Given the description of an element on the screen output the (x, y) to click on. 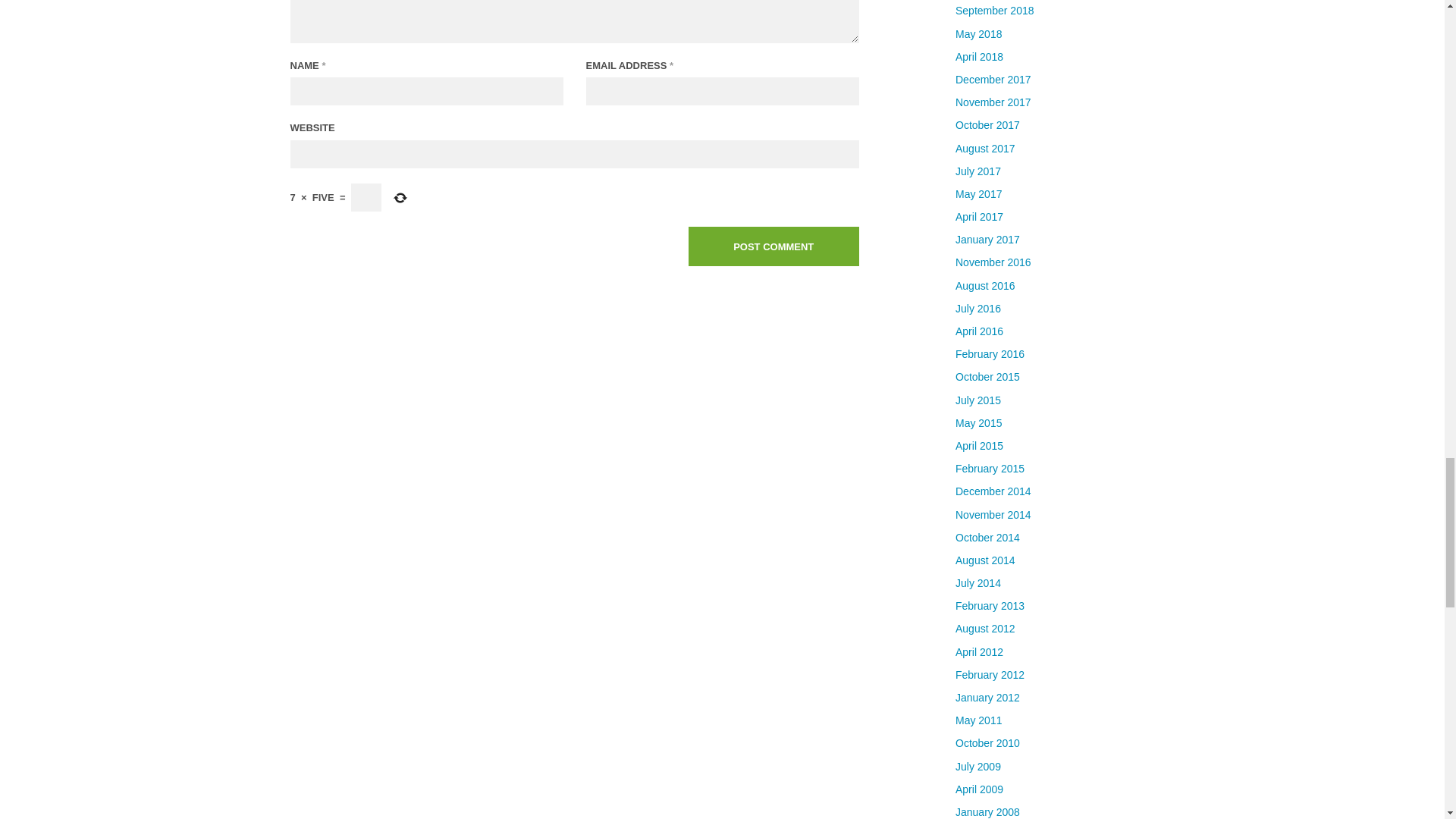
Post Comment (773, 246)
Post Comment (773, 246)
